Given the description of an element on the screen output the (x, y) to click on. 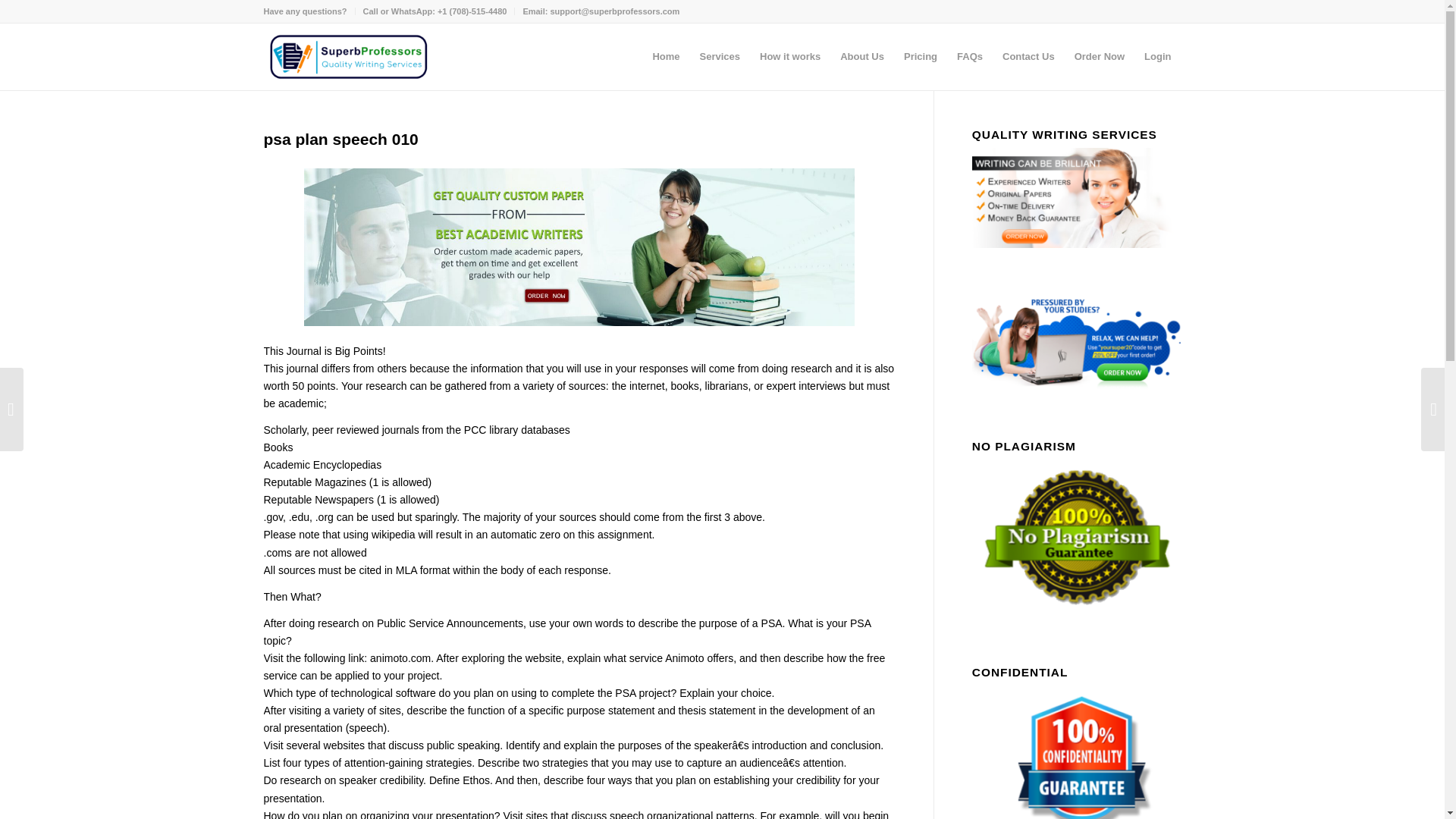
psa plan speech 010 (341, 139)
About Us (861, 56)
Order Now (1099, 56)
Permanent Link: psa plan speech 010 (341, 139)
Contact Us (1028, 56)
Have any questions? (305, 11)
Services (720, 56)
How it works (789, 56)
